Given the description of an element on the screen output the (x, y) to click on. 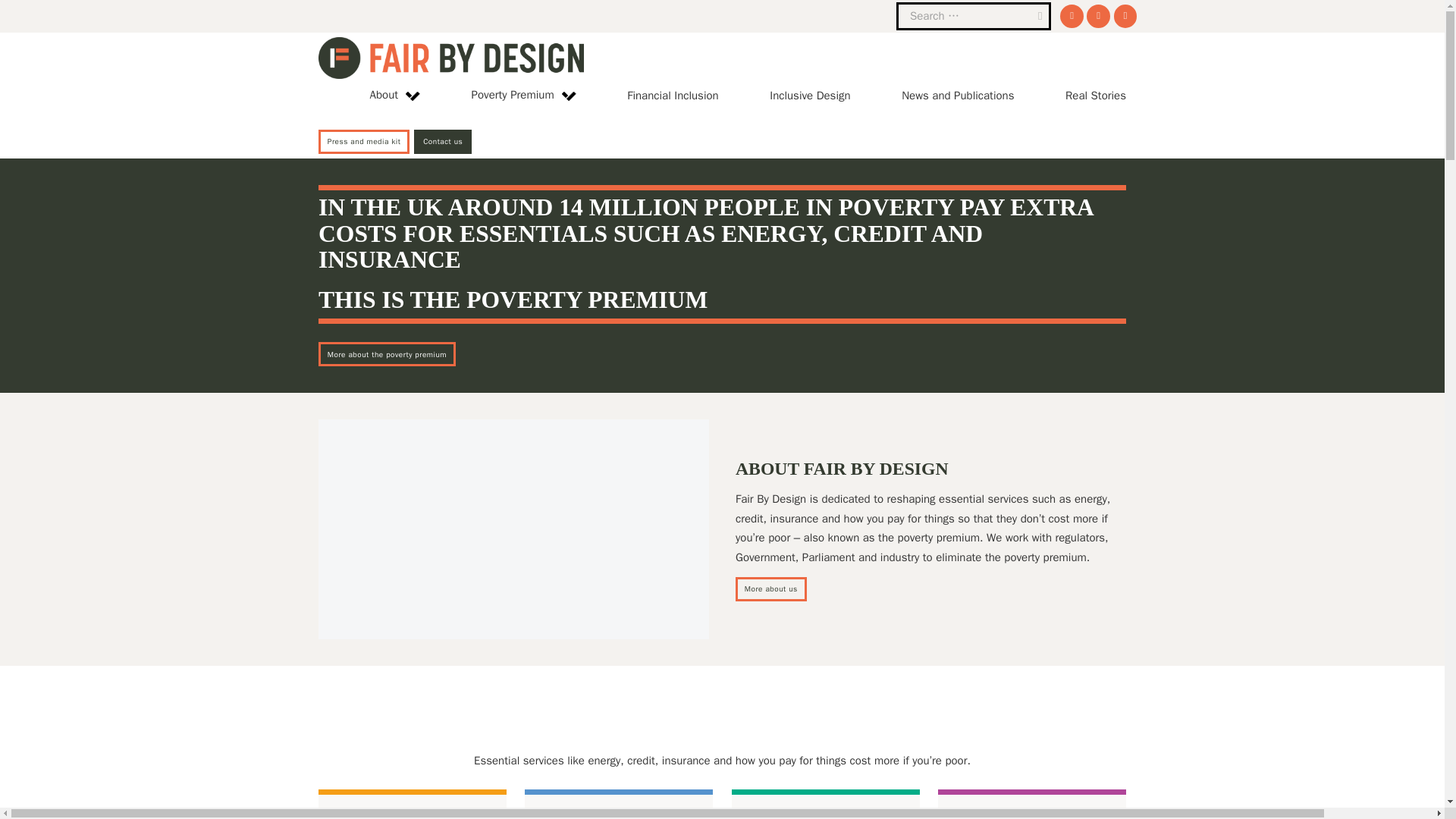
News and Publications (957, 96)
Press and media kit (363, 141)
Contact us (442, 141)
Inclusive Design (810, 96)
Financial Inclusion (672, 96)
Real Stories (1095, 96)
